Given the description of an element on the screen output the (x, y) to click on. 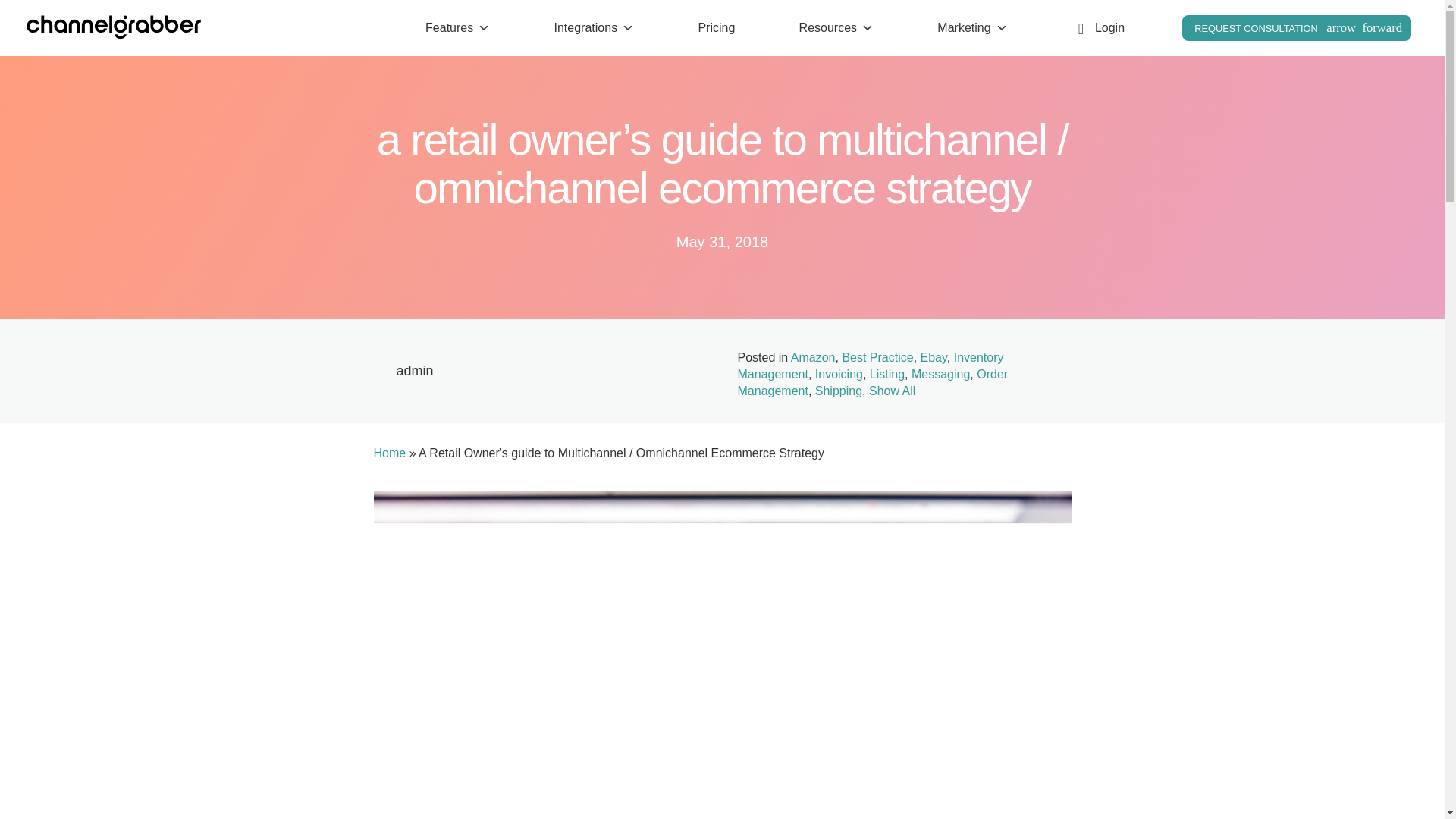
Integrations (593, 28)
Pricing (716, 28)
Resources (836, 28)
Marketing (972, 28)
Features (457, 28)
